Given the description of an element on the screen output the (x, y) to click on. 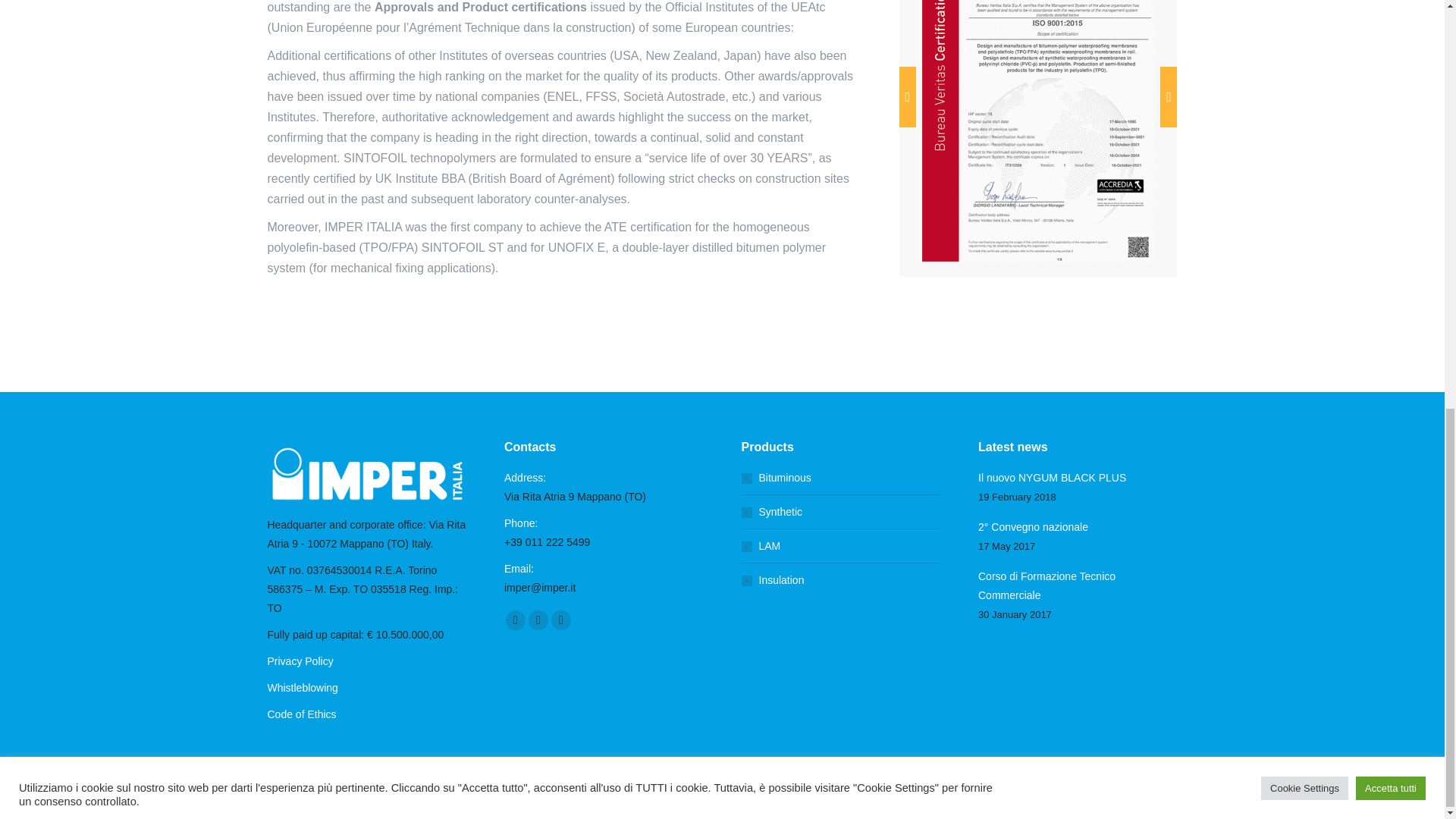
Linkedin page opens in new window (560, 619)
Facebook page opens in new window (515, 619)
YouTube page opens in new window (538, 619)
